Given the description of an element on the screen output the (x, y) to click on. 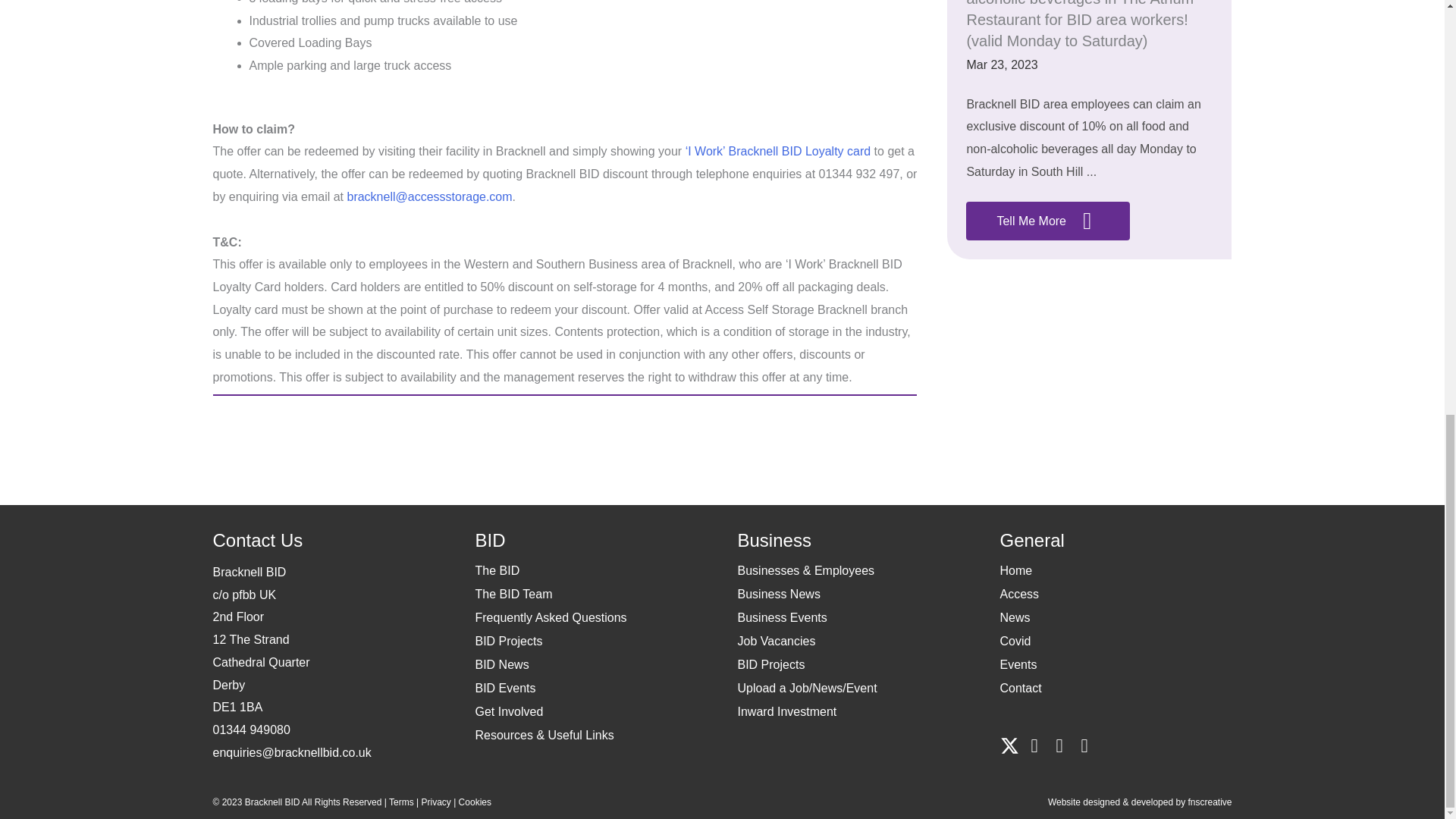
Facebook (1034, 745)
LinkedIn (1058, 745)
YouTube (1084, 745)
